Given the description of an element on the screen output the (x, y) to click on. 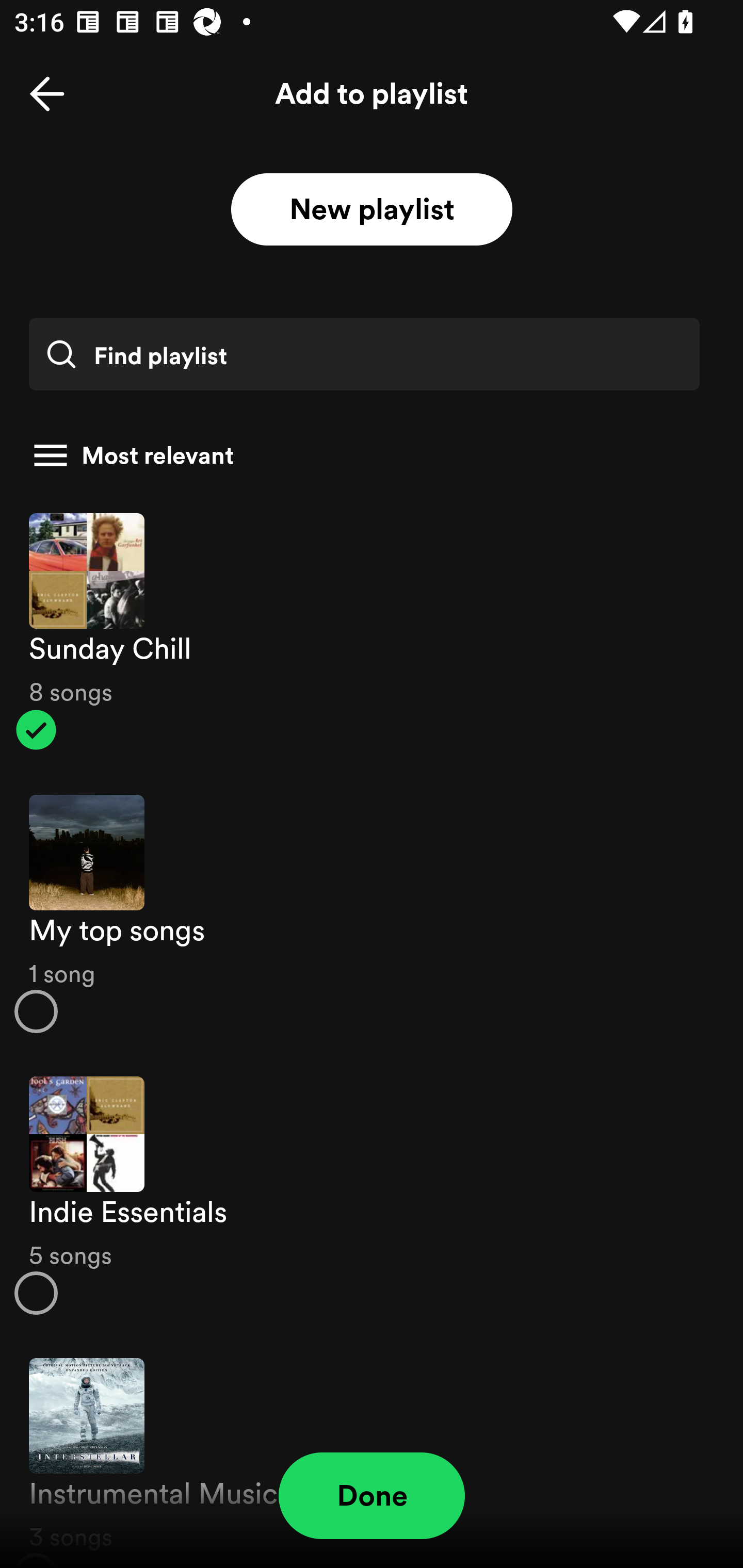
Back (46, 93)
New playlist (371, 210)
Find playlist (363, 354)
Most relevant (363, 455)
Sunday Chill 8 songs (371, 631)
My top songs 1 song (371, 914)
Indie Essentials 5 songs (371, 1195)
Instrumental Music 3 songs (371, 1451)
Done (371, 1495)
